Given the description of an element on the screen output the (x, y) to click on. 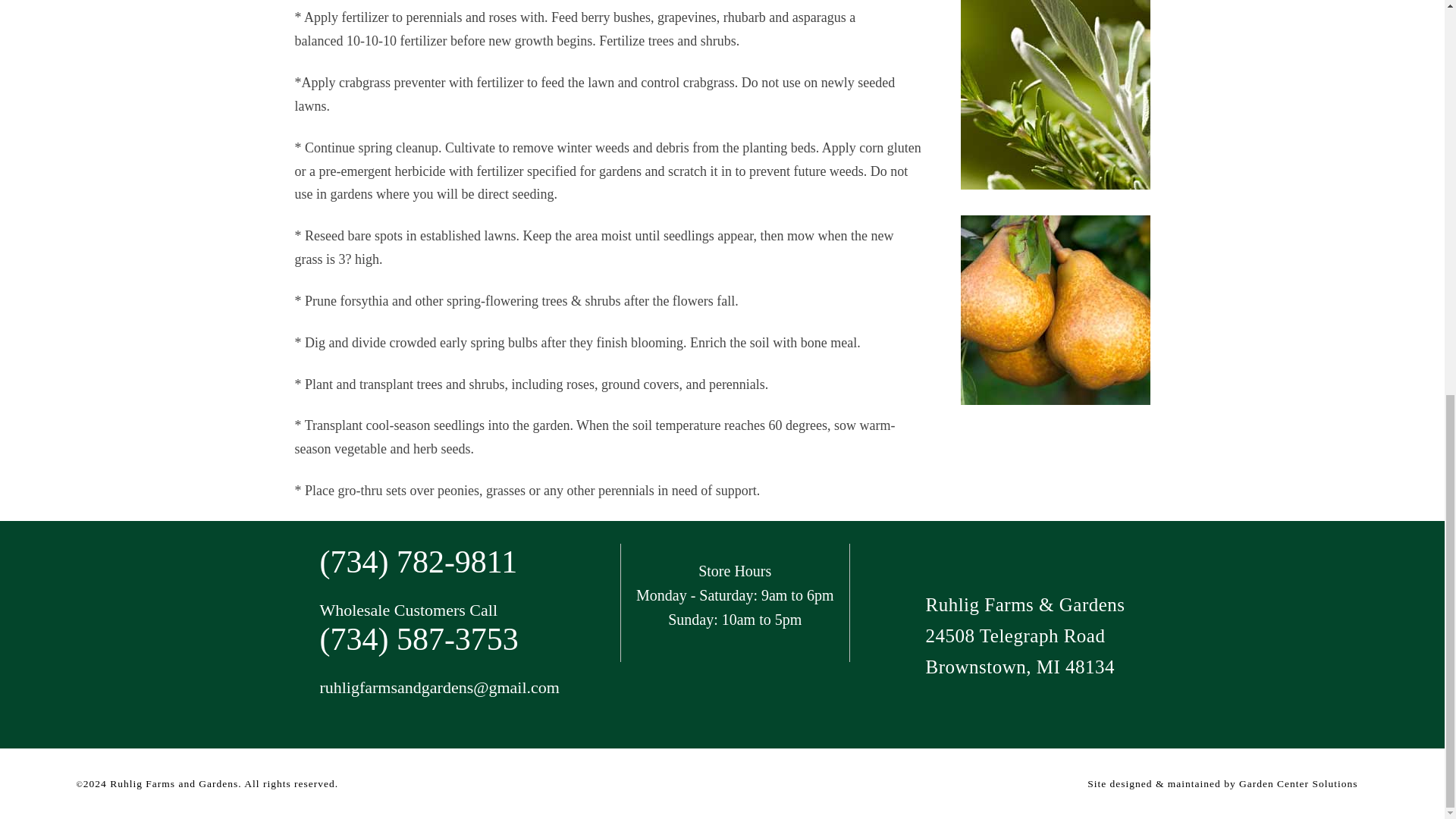
Garden Center Solutions (1297, 783)
